Given the description of an element on the screen output the (x, y) to click on. 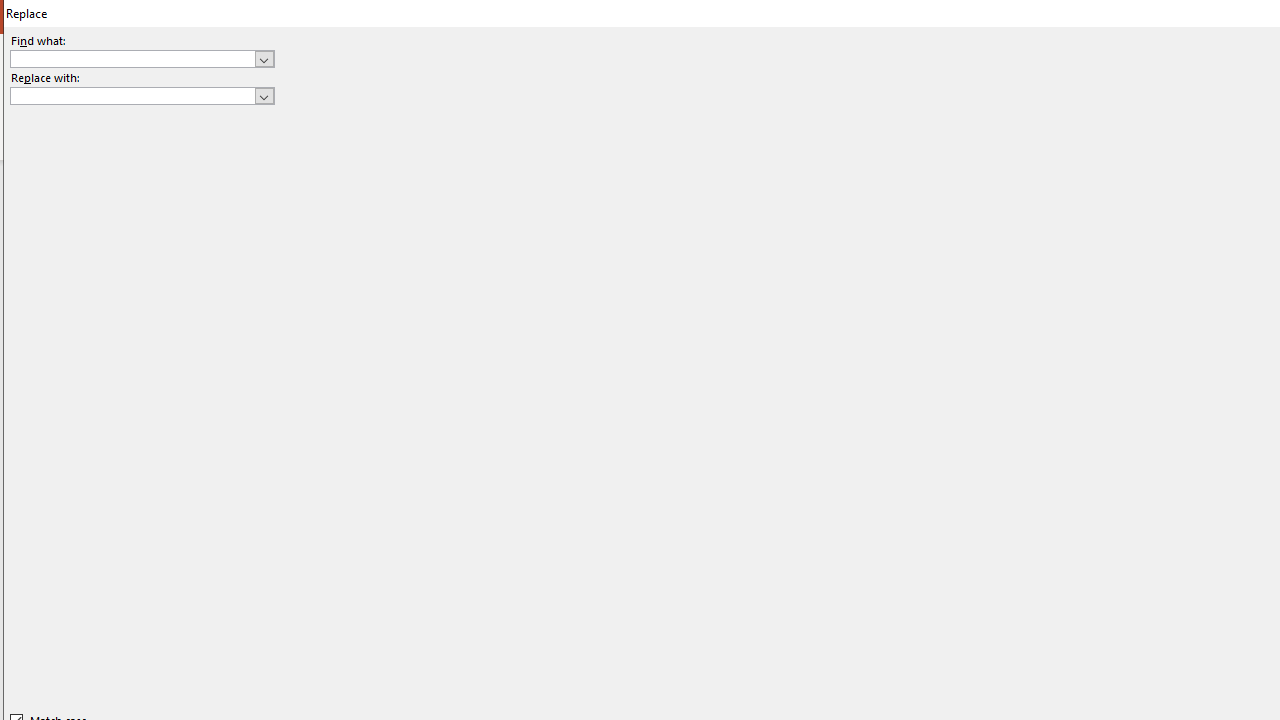
Replace with (132, 95)
Find what (132, 58)
Replace with (142, 96)
Find what (142, 58)
